Given the description of an element on the screen output the (x, y) to click on. 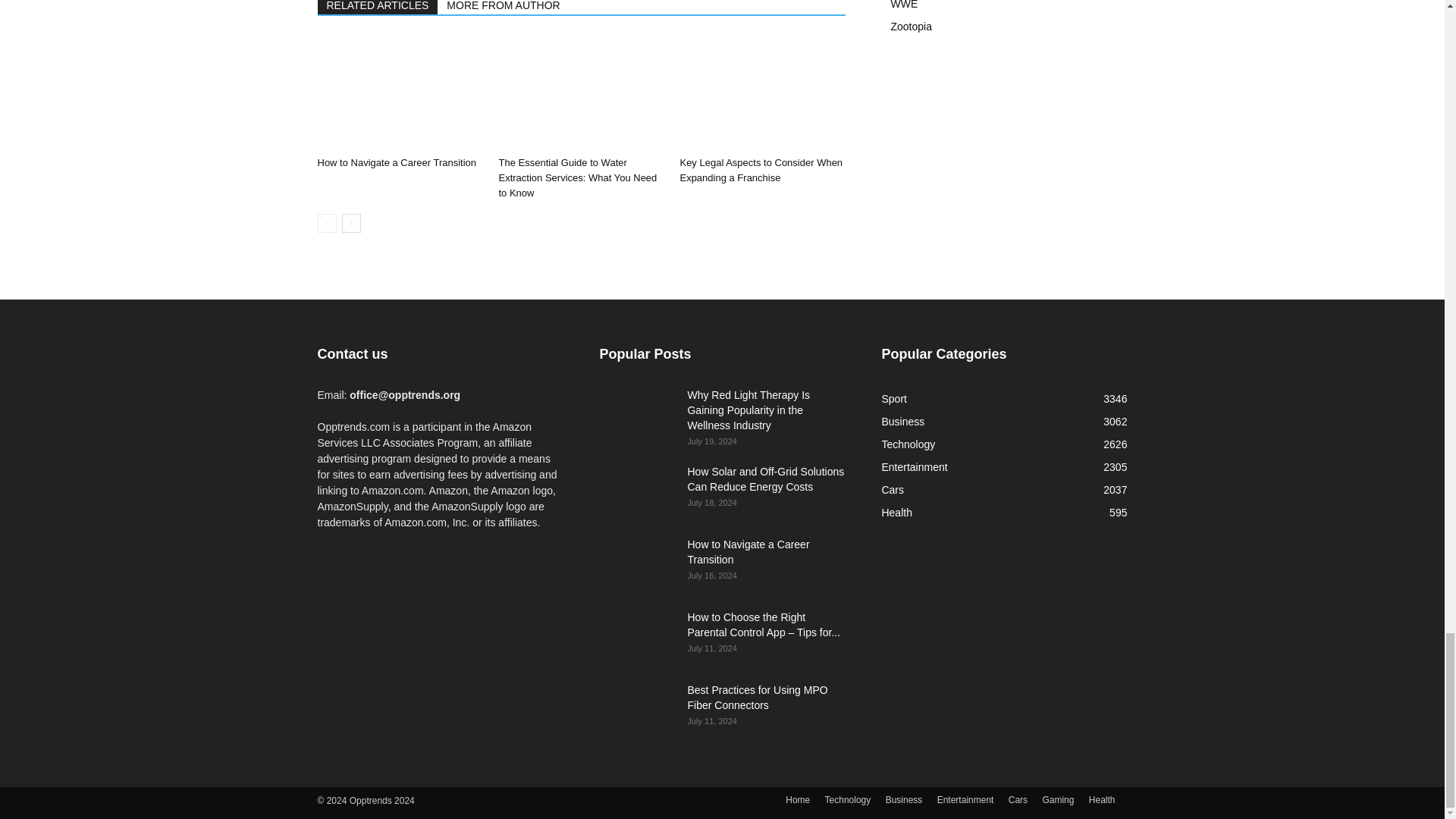
Key Legal Aspects to Consider When Expanding a Franchise (761, 92)
How to Navigate a Career Transition (399, 92)
How to Navigate a Career Transition (396, 162)
